Given the description of an element on the screen output the (x, y) to click on. 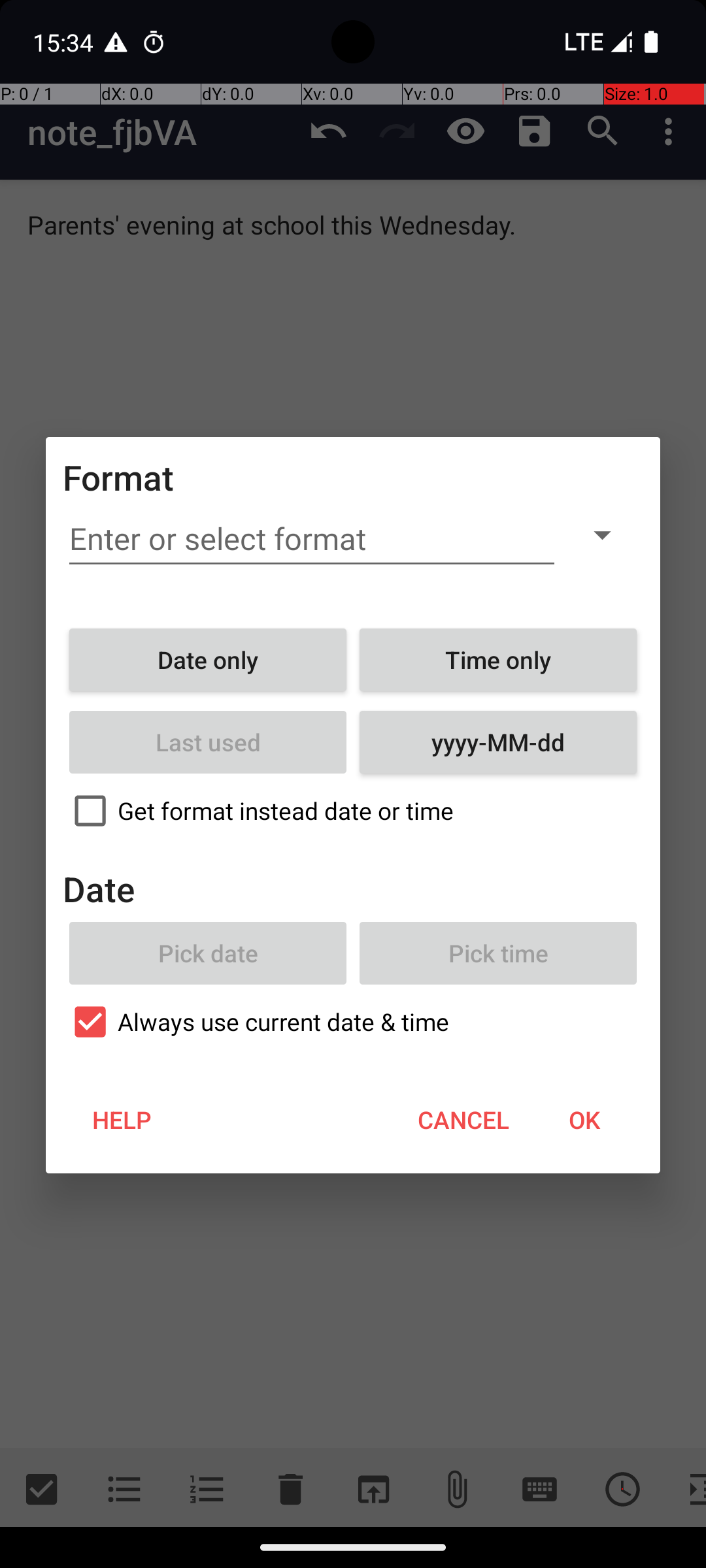
Enter or select format Element type: android.widget.EditText (311, 538)
Date only Element type: android.widget.Button (207, 659)
Time only Element type: android.widget.Button (498, 659)
Last used Element type: android.widget.Button (207, 742)
yyyy-MM-dd Element type: android.widget.Button (498, 742)
Get format instead date or time Element type: android.widget.CheckBox (352, 810)
Pick date Element type: android.widget.Button (207, 953)
Pick time Element type: android.widget.Button (498, 953)
Always use current date & time Element type: android.widget.CheckBox (352, 1021)
HELP Element type: android.widget.Button (121, 1119)
